Given the description of an element on the screen output the (x, y) to click on. 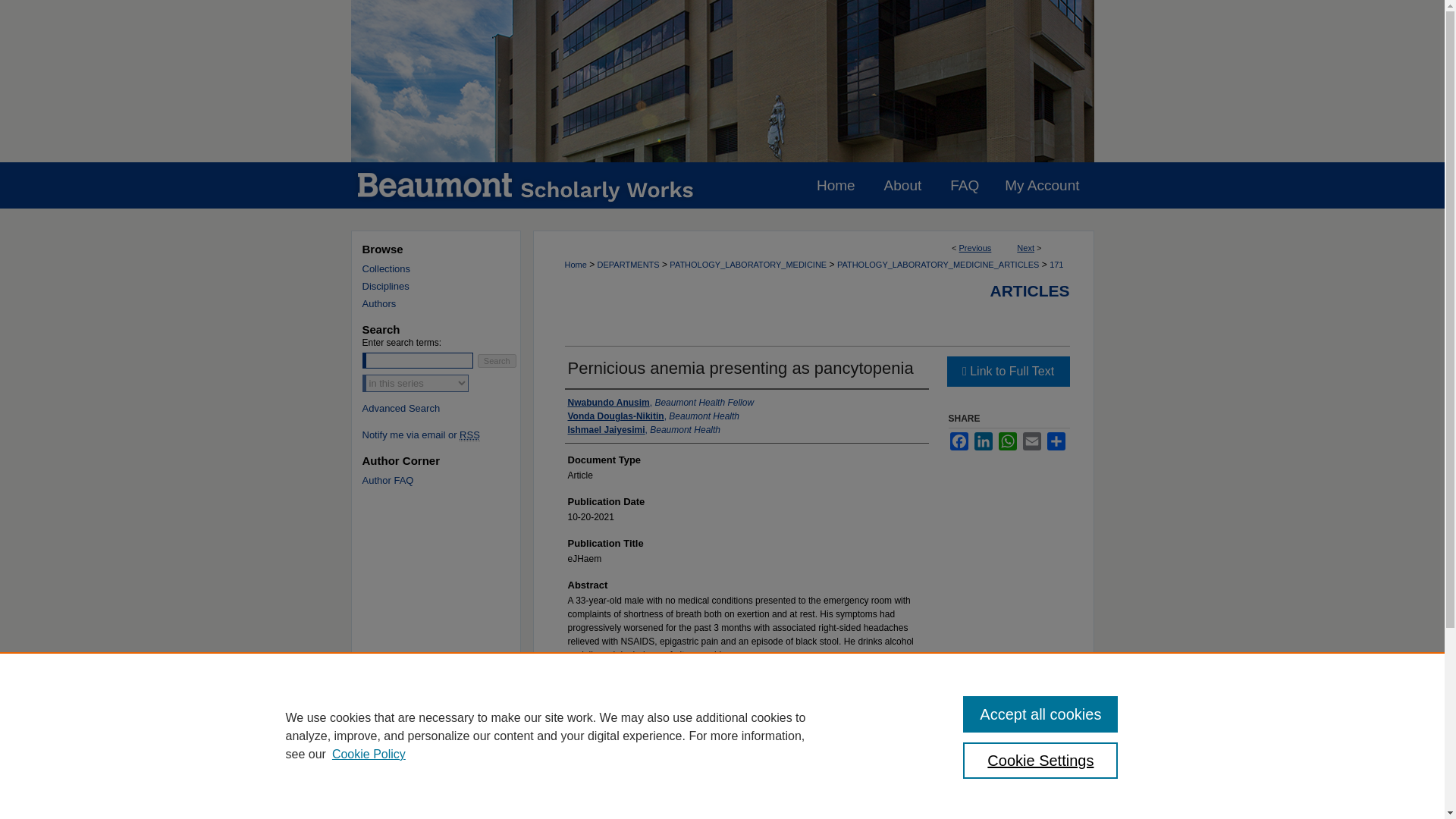
Disciplines (447, 285)
Author FAQ (447, 480)
ARTICLES (1030, 290)
FAQ (964, 185)
Beaumont Health Scholarly Works and Archives (721, 81)
About (902, 185)
Author FAQ (447, 480)
Home (835, 185)
171 (1055, 264)
Next (1024, 247)
Link opens in new window (1007, 371)
Search (496, 360)
Advanced Search (401, 408)
FAQ (964, 185)
Share (1055, 441)
